Given the description of an element on the screen output the (x, y) to click on. 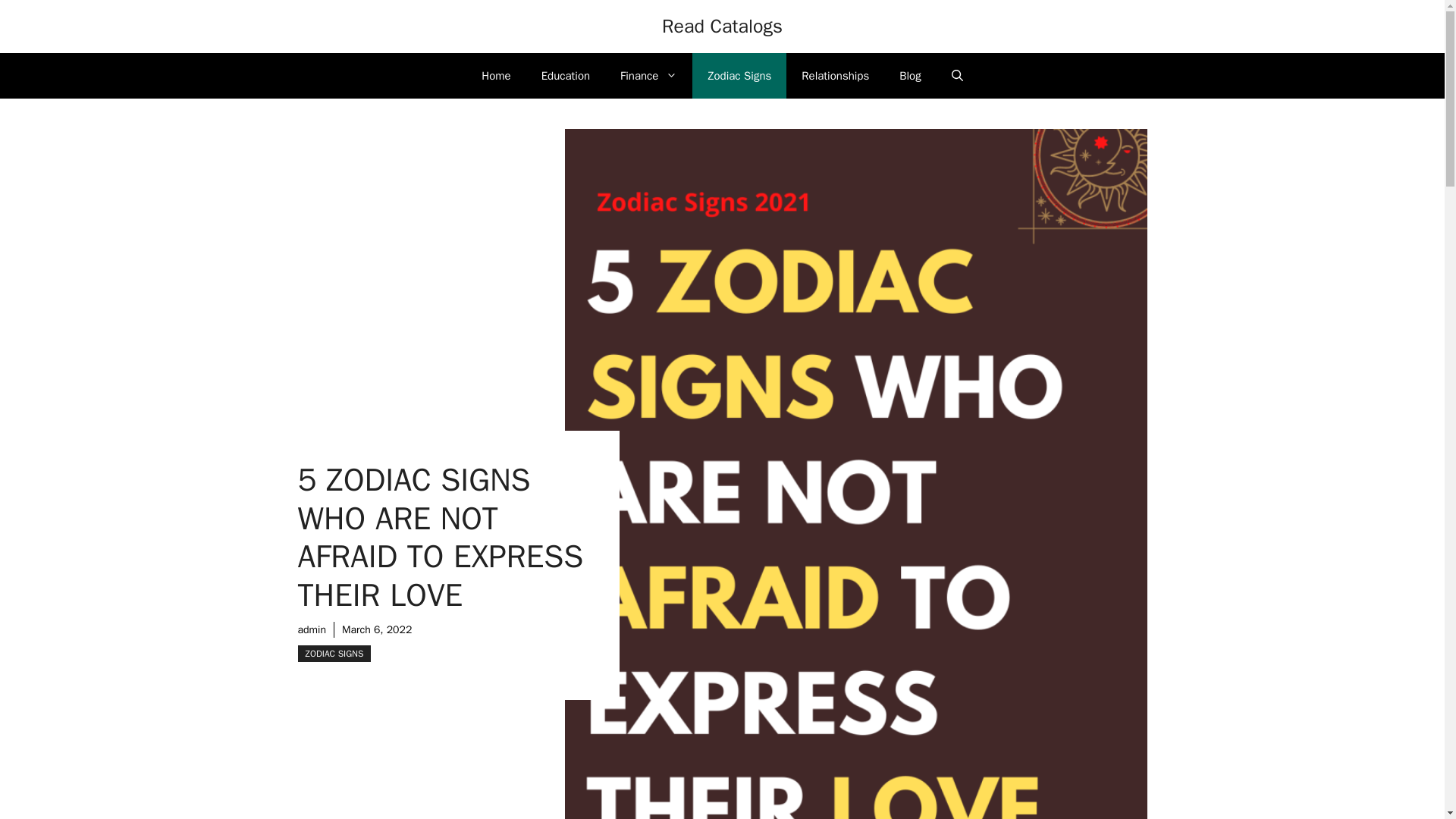
Zodiac Signs (739, 75)
Relationships (834, 75)
Blog (909, 75)
Home (495, 75)
admin (310, 629)
ZODIAC SIGNS (334, 653)
Finance (649, 75)
Education (565, 75)
Read Catalogs (722, 25)
